Given the description of an element on the screen output the (x, y) to click on. 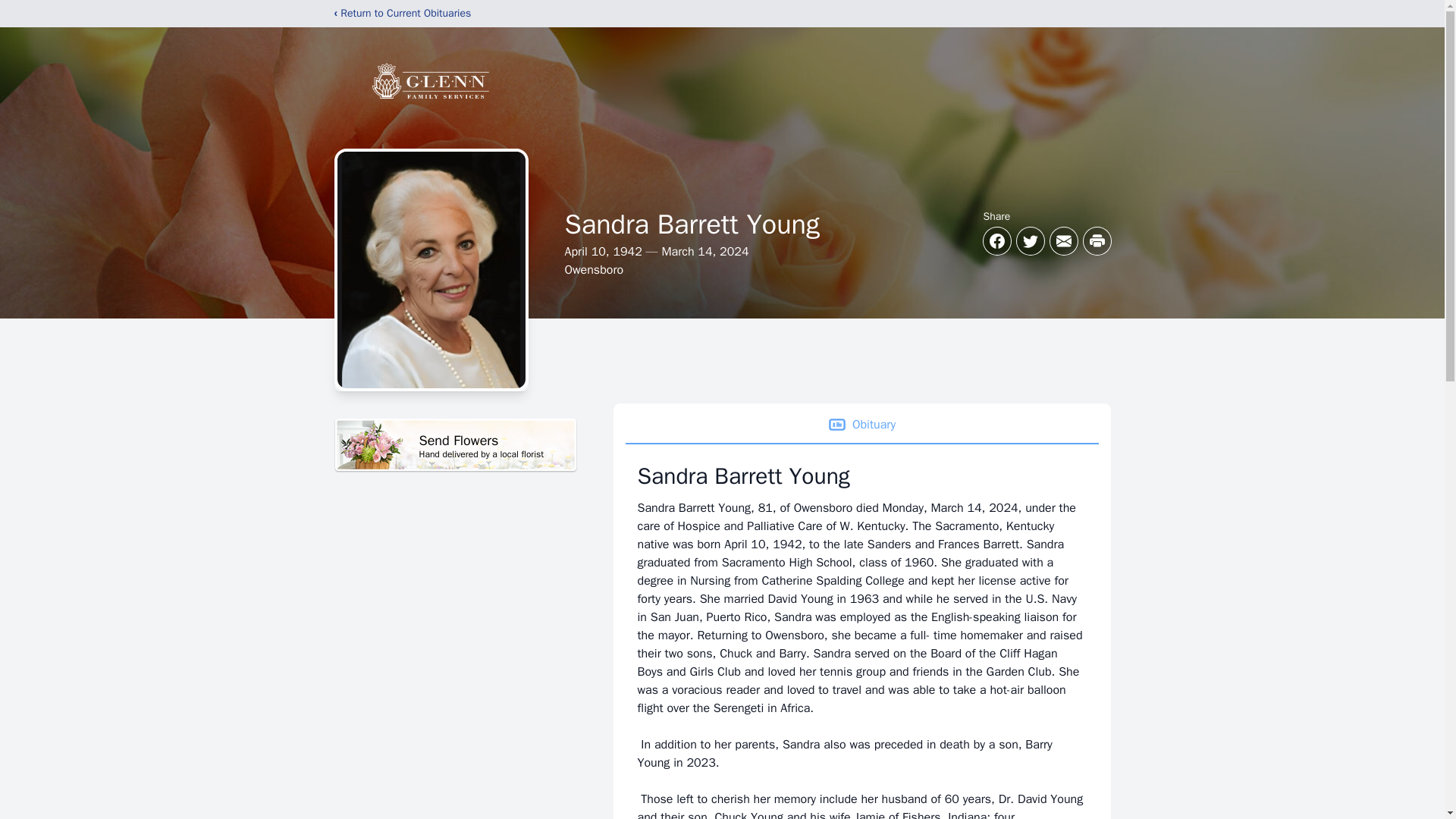
Obituary (454, 445)
